Given the description of an element on the screen output the (x, y) to click on. 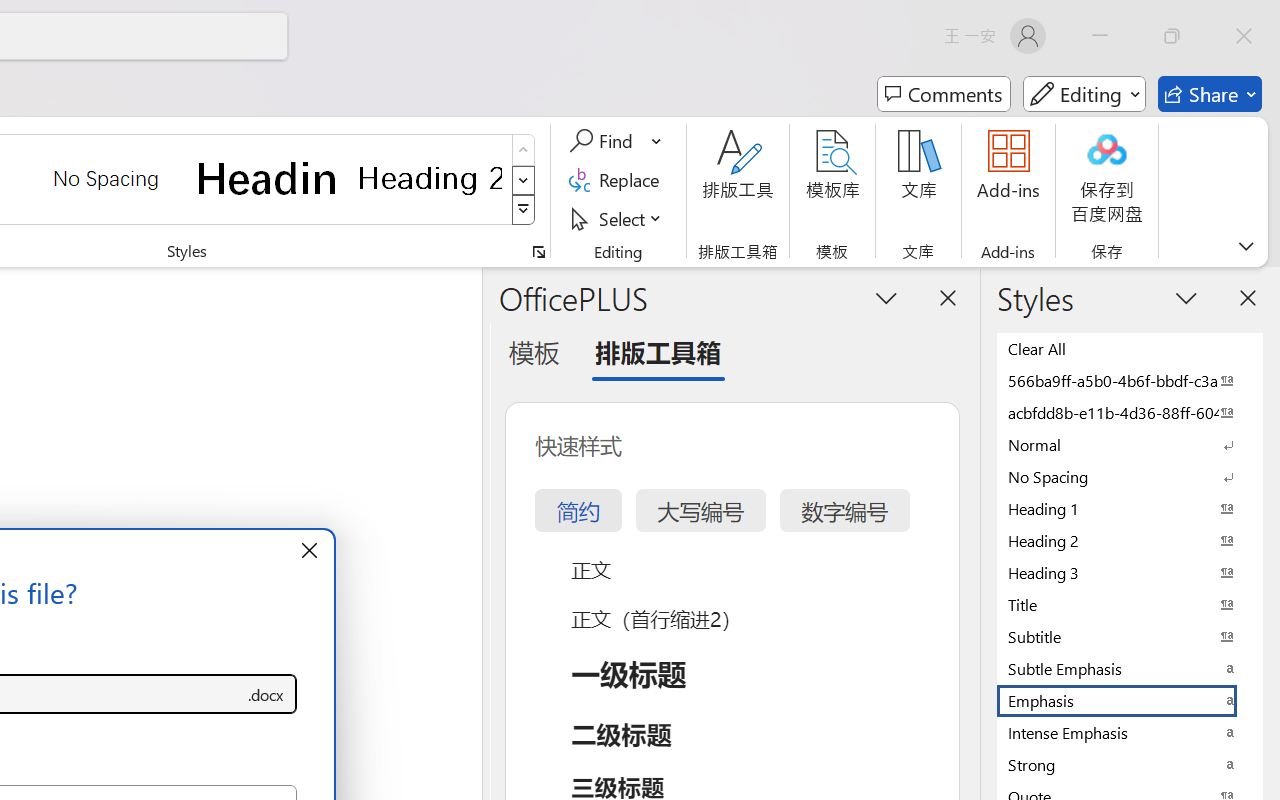
Intense Emphasis (1130, 732)
Emphasis (1130, 700)
Row Down (523, 180)
Strong (1130, 764)
